Given the description of an element on the screen output the (x, y) to click on. 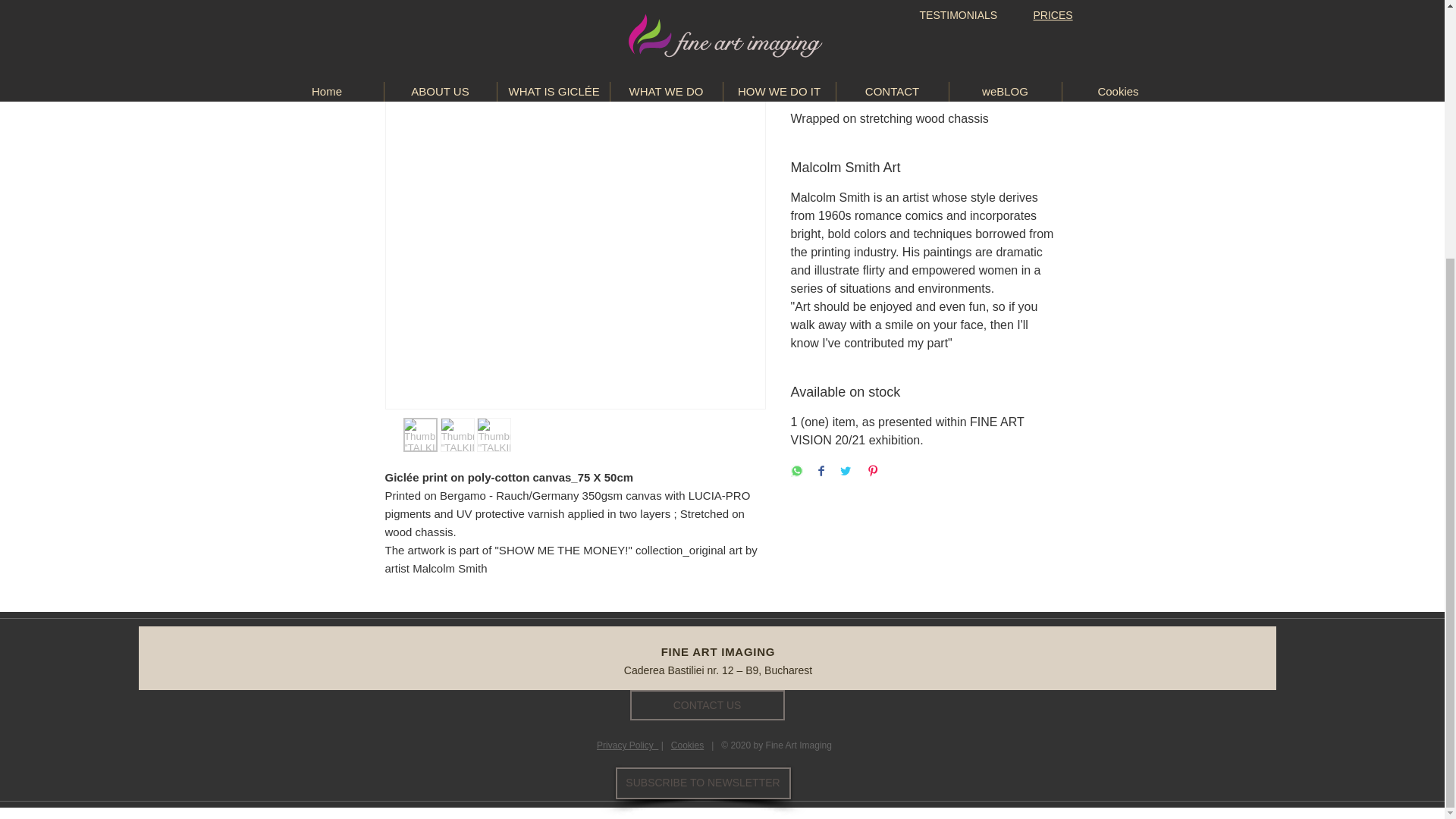
Privacy Policy  (627, 745)
CONTACT US (706, 705)
SUBSCRIBE TO NEWSLETTER (702, 783)
Cookies (687, 745)
